Given the description of an element on the screen output the (x, y) to click on. 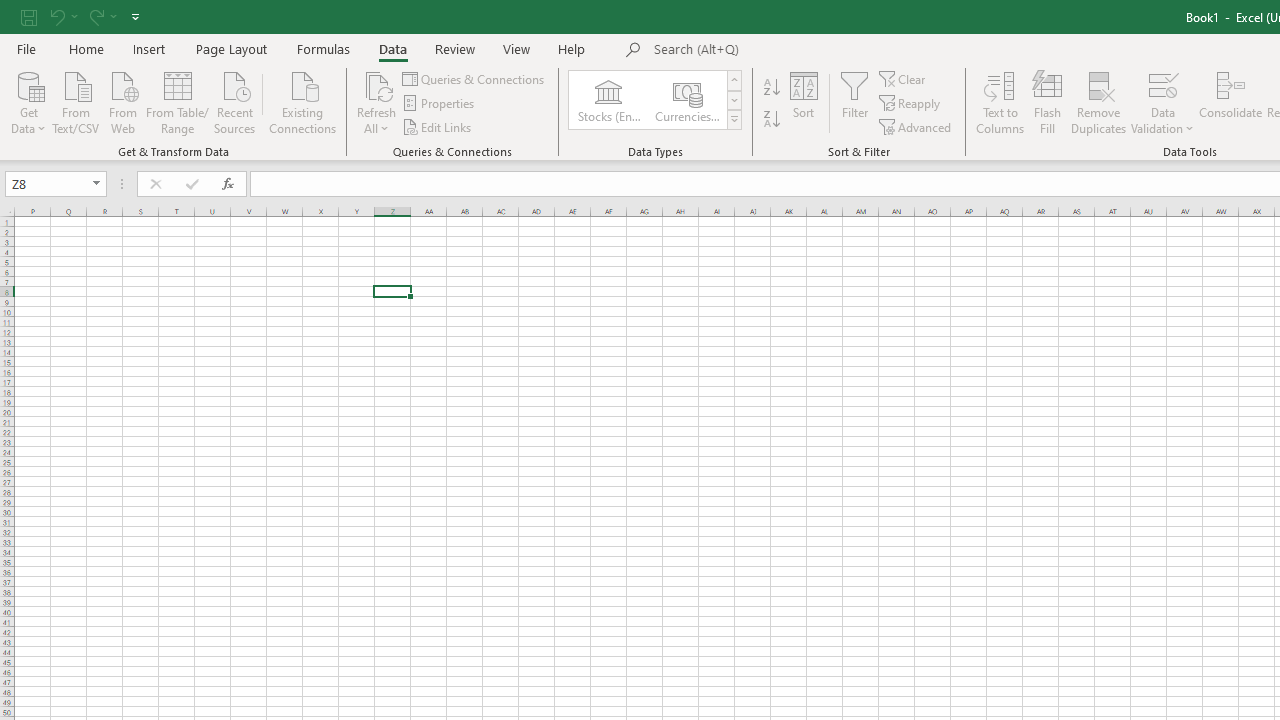
Consolidate... (1230, 102)
